Given the description of an element on the screen output the (x, y) to click on. 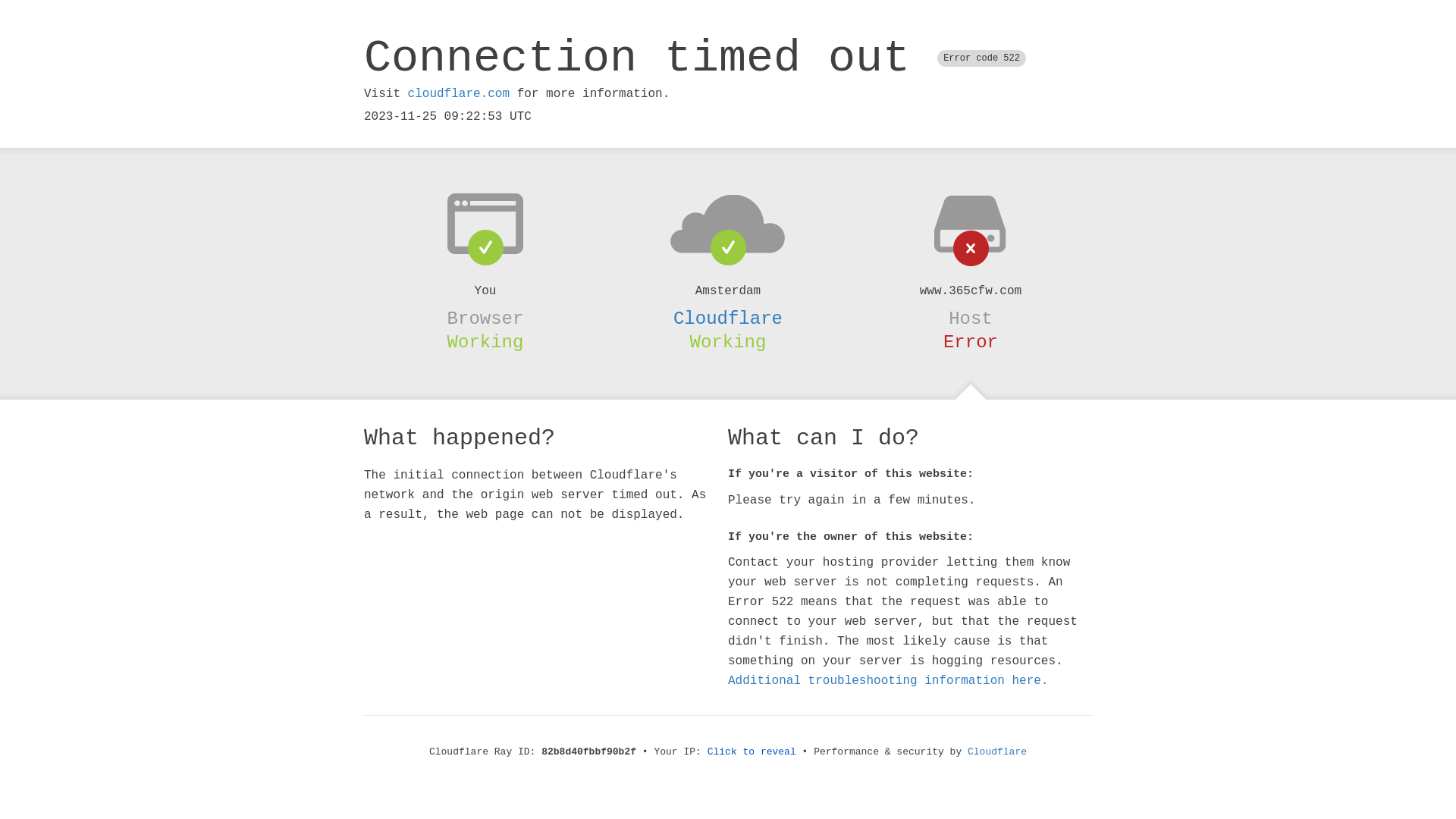
Additional troubleshooting information here. Element type: text (888, 680)
Click to reveal Element type: text (751, 751)
Cloudflare Element type: text (996, 751)
cloudflare.com Element type: text (458, 93)
Cloudflare Element type: text (727, 318)
